Given the description of an element on the screen output the (x, y) to click on. 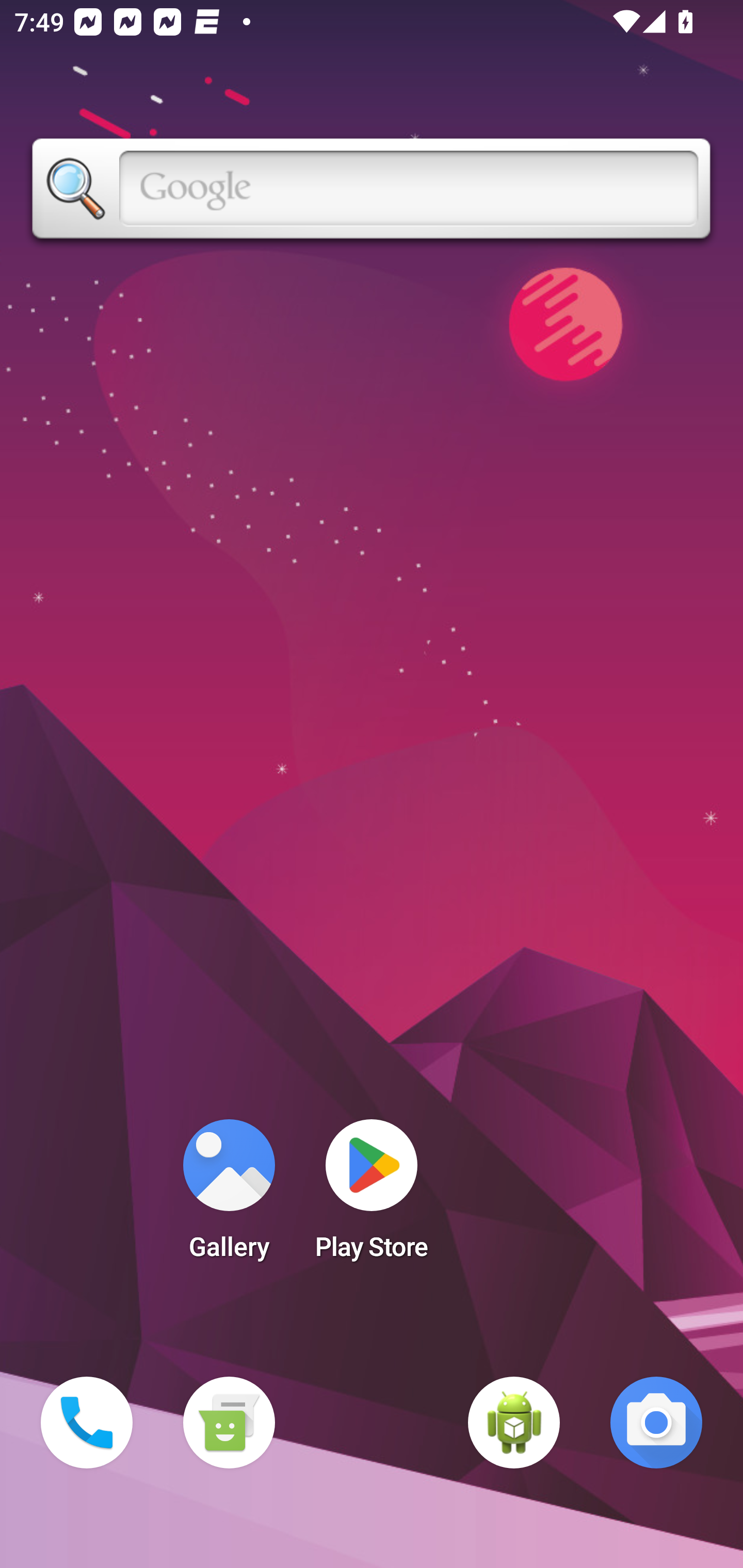
Gallery (228, 1195)
Play Store (371, 1195)
Phone (86, 1422)
Messaging (228, 1422)
WebView Browser Tester (513, 1422)
Camera (656, 1422)
